Given the description of an element on the screen output the (x, y) to click on. 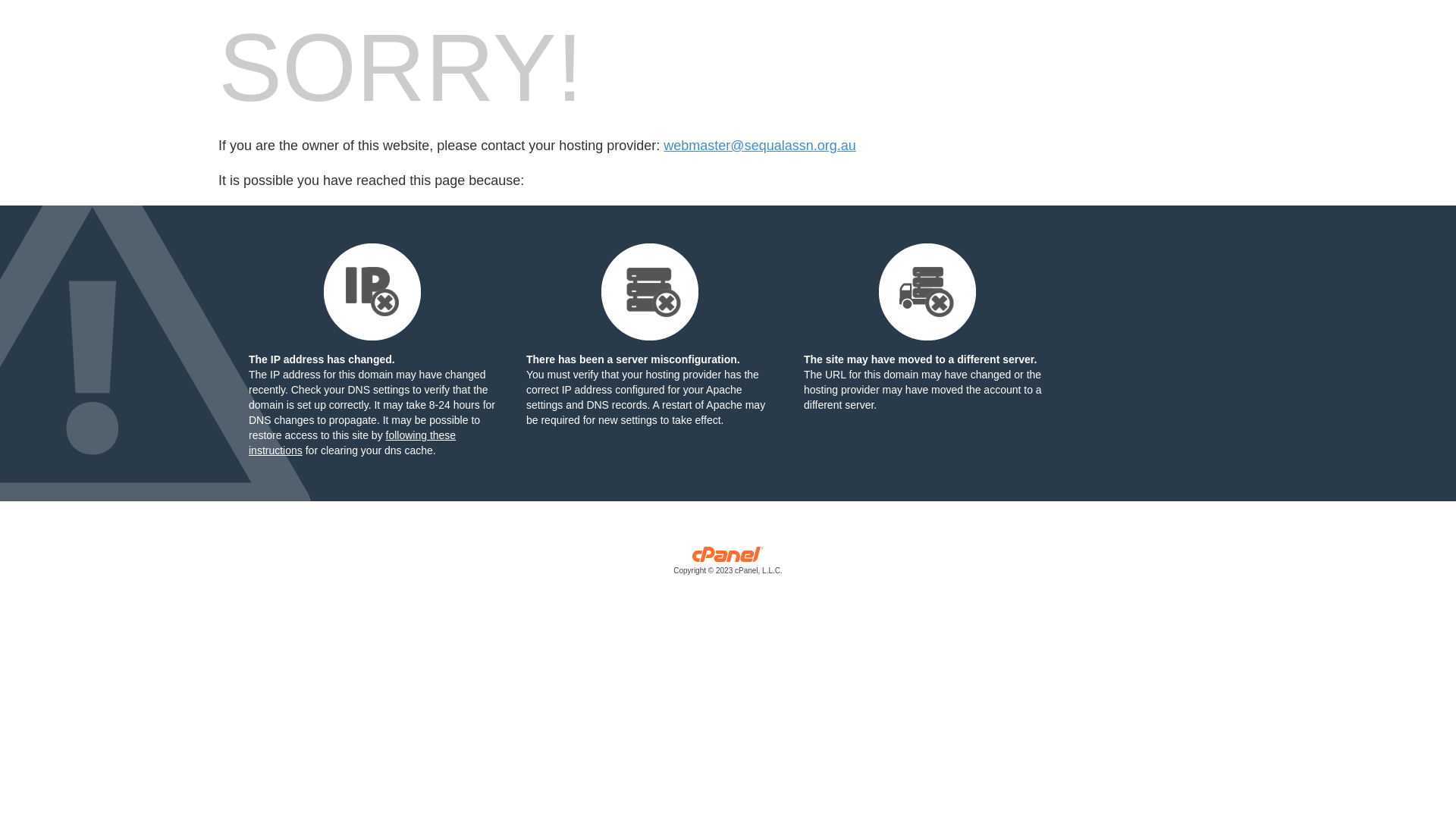
webmaster@sequalassn.org.au Element type: text (759, 145)
following these instructions Element type: text (351, 442)
